Given the description of an element on the screen output the (x, y) to click on. 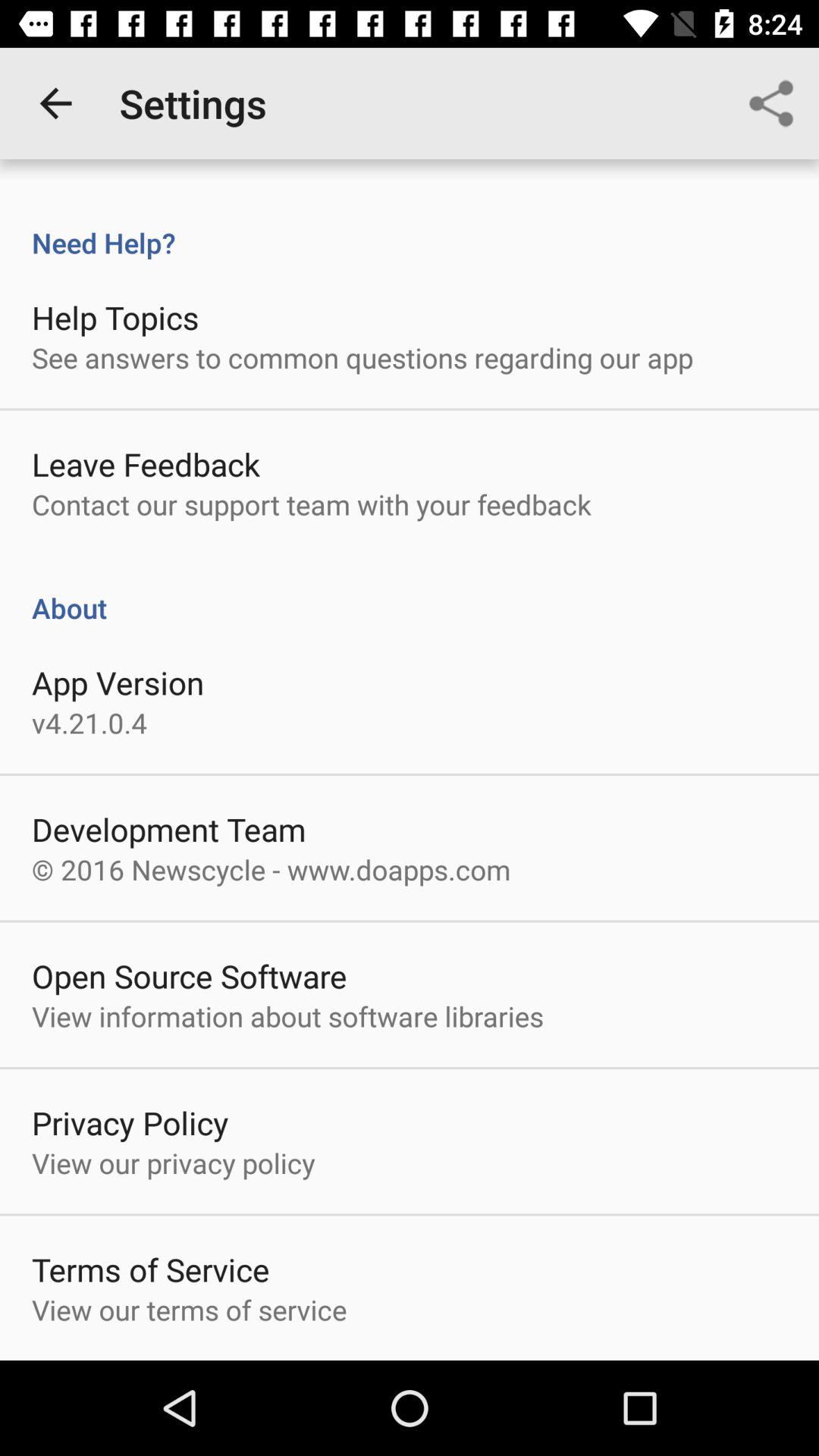
open the item above contact our support item (145, 463)
